Given the description of an element on the screen output the (x, y) to click on. 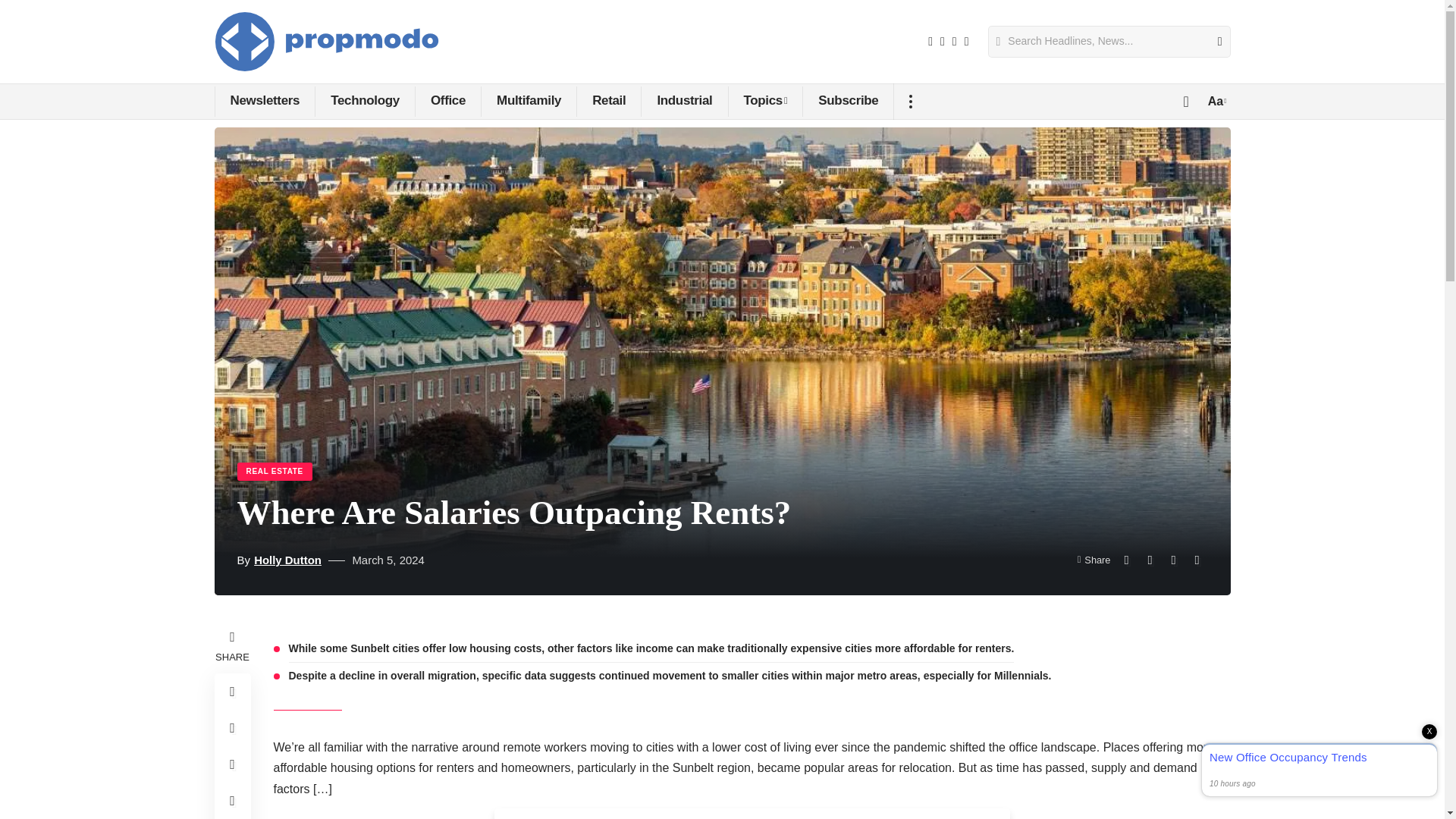
Multifamily (528, 101)
Propmodo (326, 41)
Retail (608, 101)
Technology (364, 101)
Office (447, 101)
Newsletters (264, 101)
Industrial (683, 101)
Search (1213, 41)
Topics (765, 101)
